Given the description of an element on the screen output the (x, y) to click on. 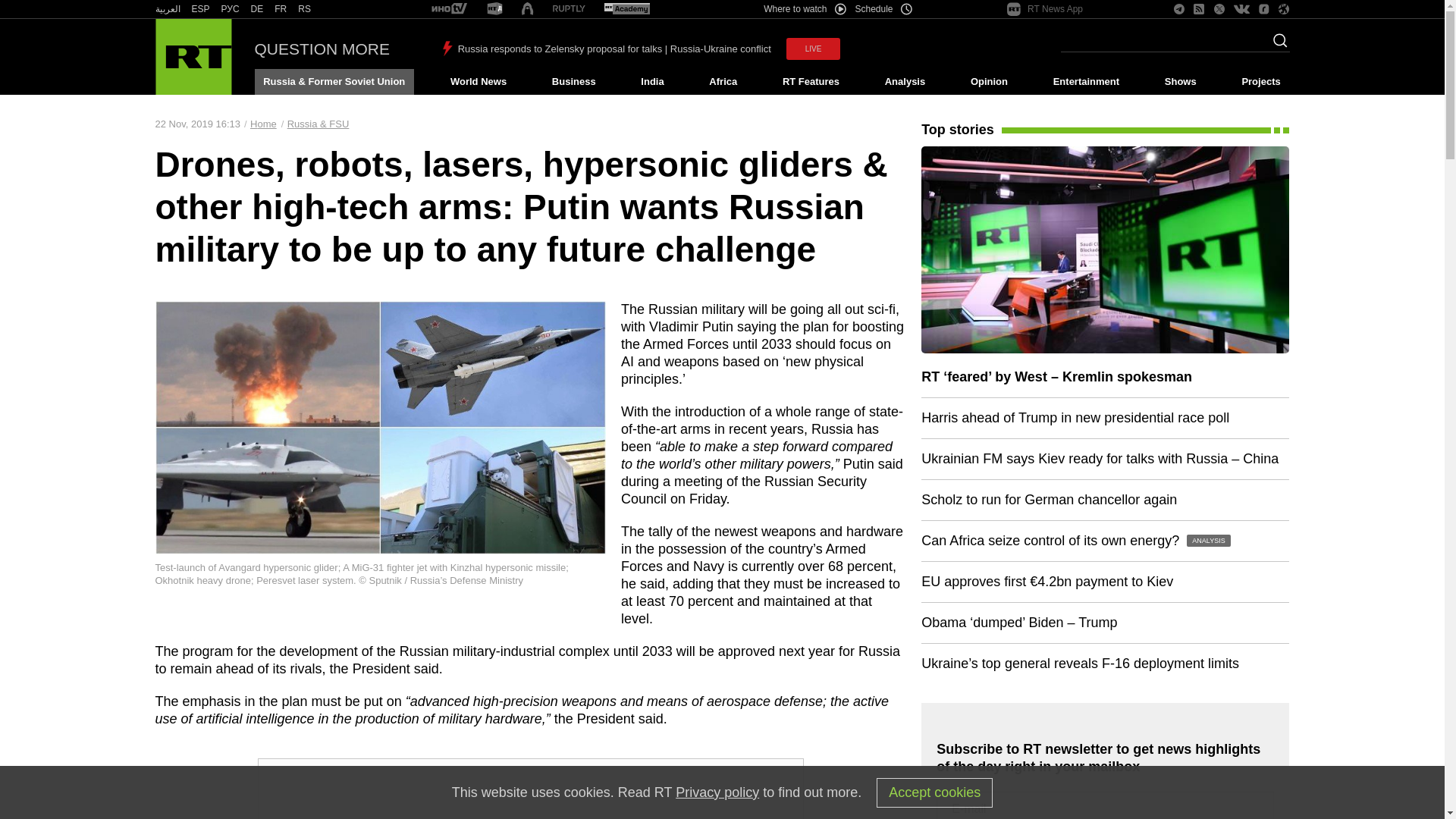
Business (573, 81)
Opinion (988, 81)
LIVE (813, 48)
Schedule (884, 9)
RT  (280, 9)
RT  (569, 8)
RT  (494, 9)
India (651, 81)
FR (280, 9)
RS (304, 9)
RT  (304, 9)
RT  (199, 9)
DE (256, 9)
Projects (1261, 81)
Africa (722, 81)
